Given the description of an element on the screen output the (x, y) to click on. 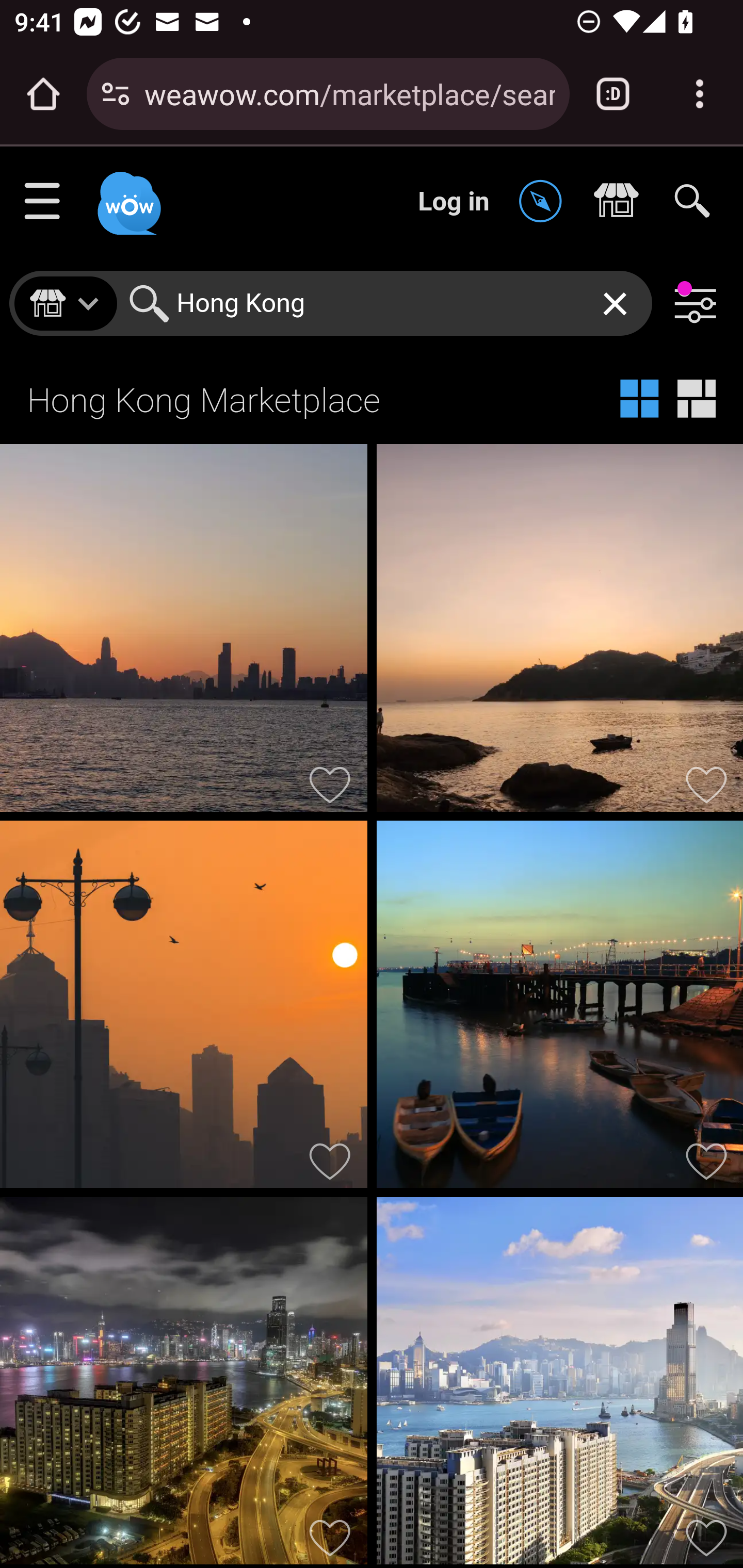
Open the home page (43, 93)
Connection is secure (115, 93)
Switch or close tabs (612, 93)
Customize and control Google Chrome (699, 93)
weawow.com/marketplace/search/Hong%20Kong (349, 92)
Weawow (127, 194)
 (545, 201)
 (621, 201)
Log in (453, 201)
Hong Kong (386, 303)
